Given the description of an element on the screen output the (x, y) to click on. 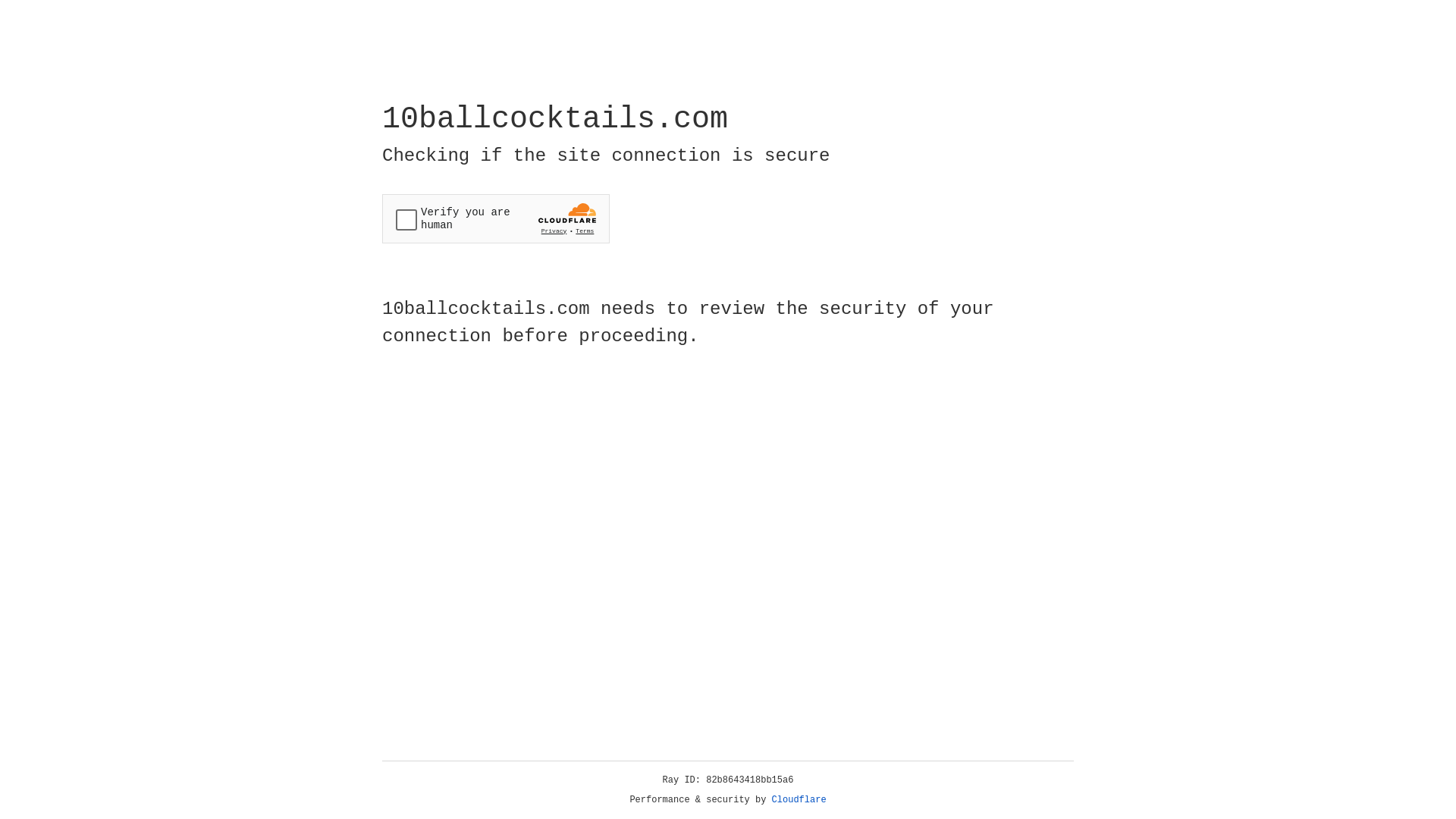
Cloudflare Element type: text (798, 799)
Widget containing a Cloudflare security challenge Element type: hover (495, 218)
